Given the description of an element on the screen output the (x, y) to click on. 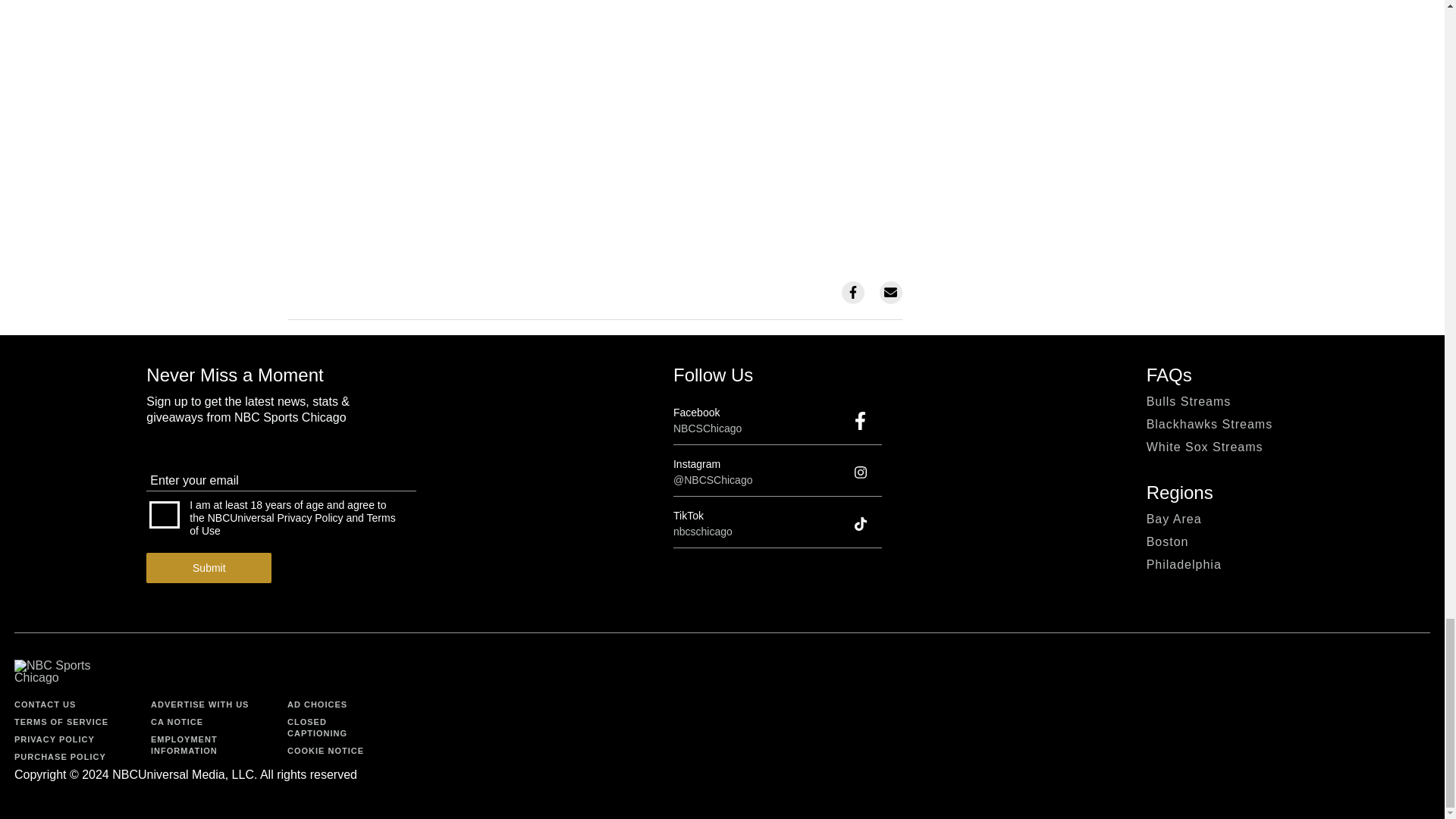
on (164, 514)
